Given the description of an element on the screen output the (x, y) to click on. 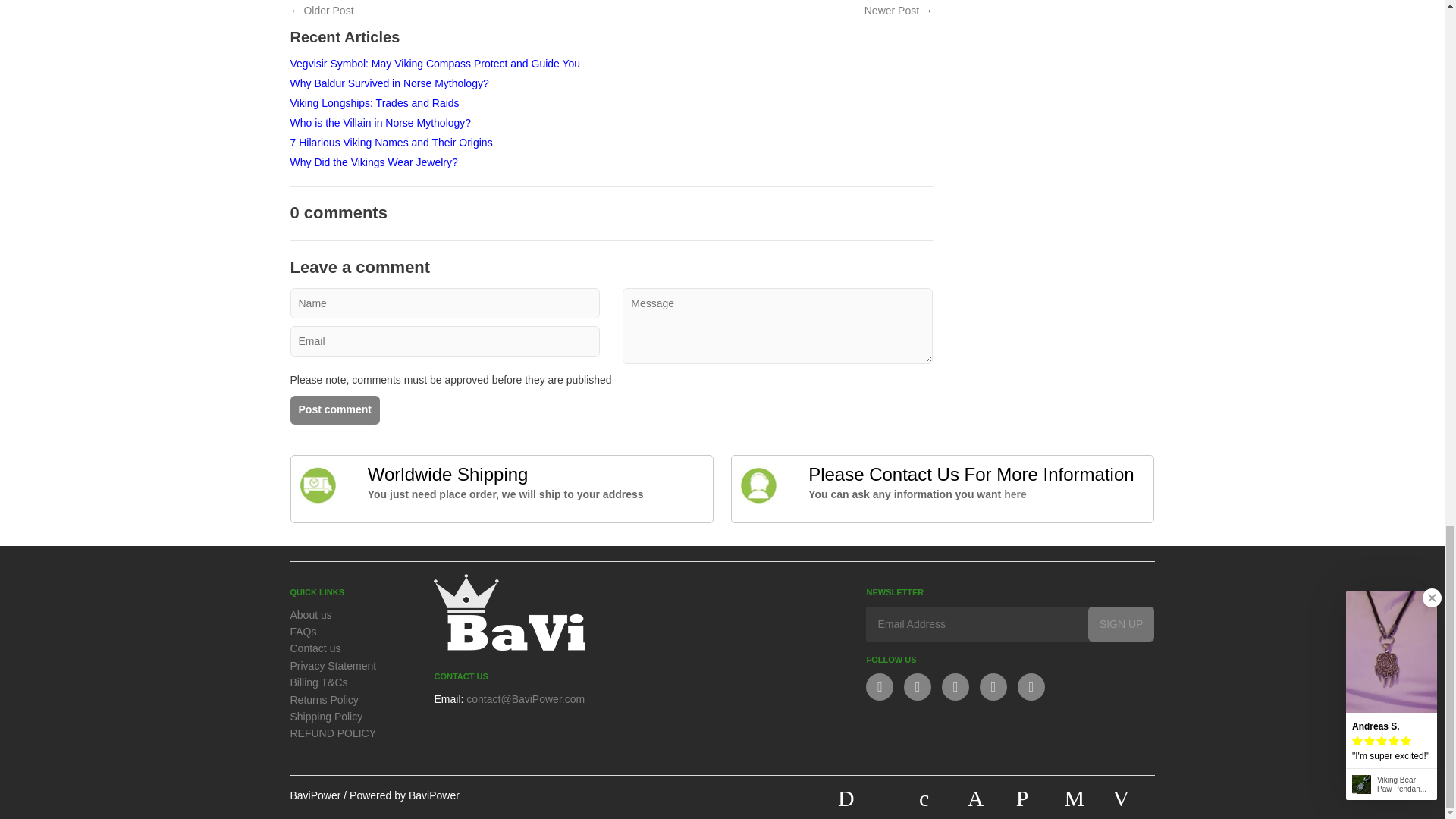
SIGN UP (1120, 623)
Post comment (333, 410)
